Given the description of an element on the screen output the (x, y) to click on. 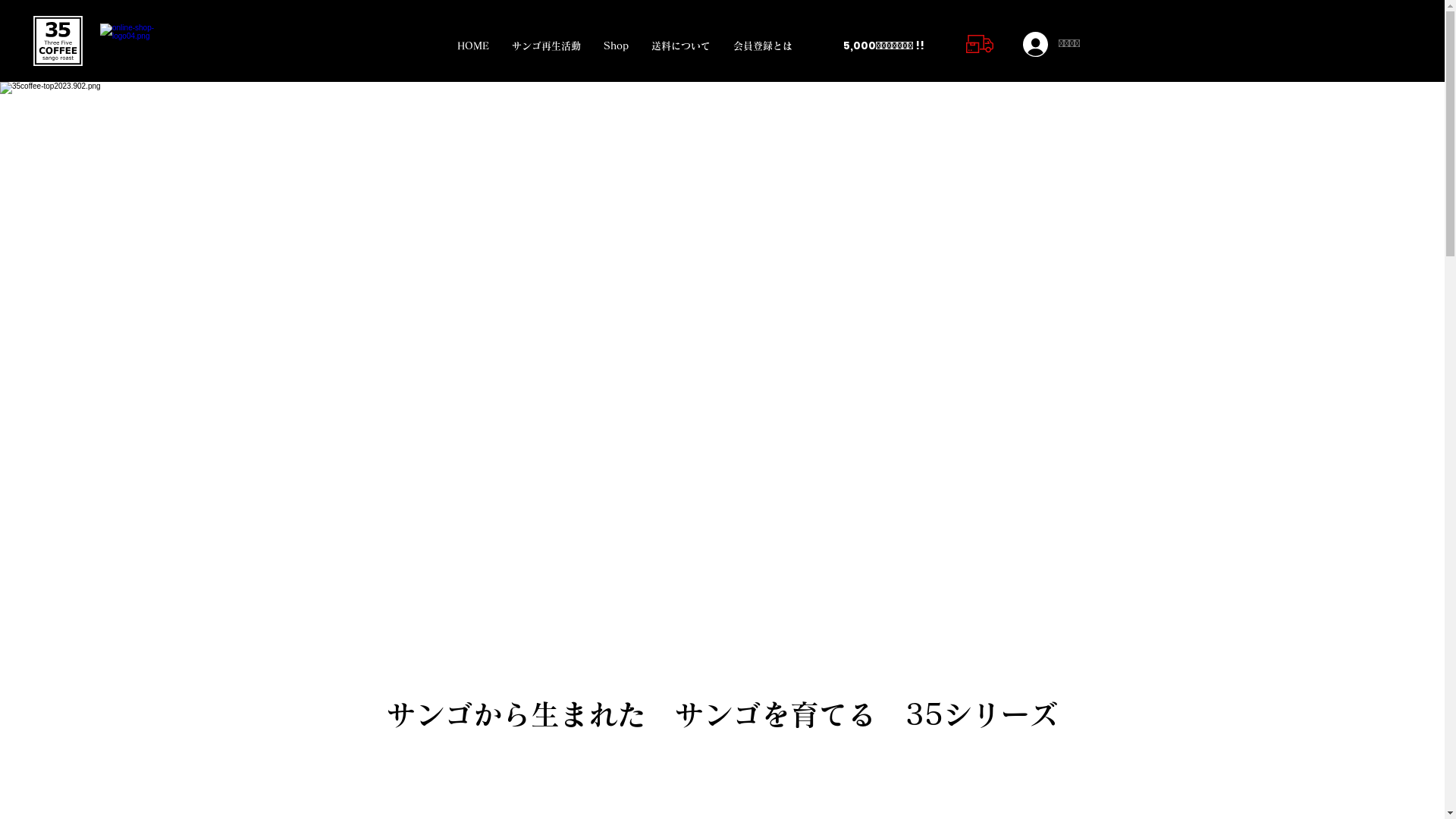
Shop Element type: text (615, 45)
HOME Element type: text (472, 45)
